Given the description of an element on the screen output the (x, y) to click on. 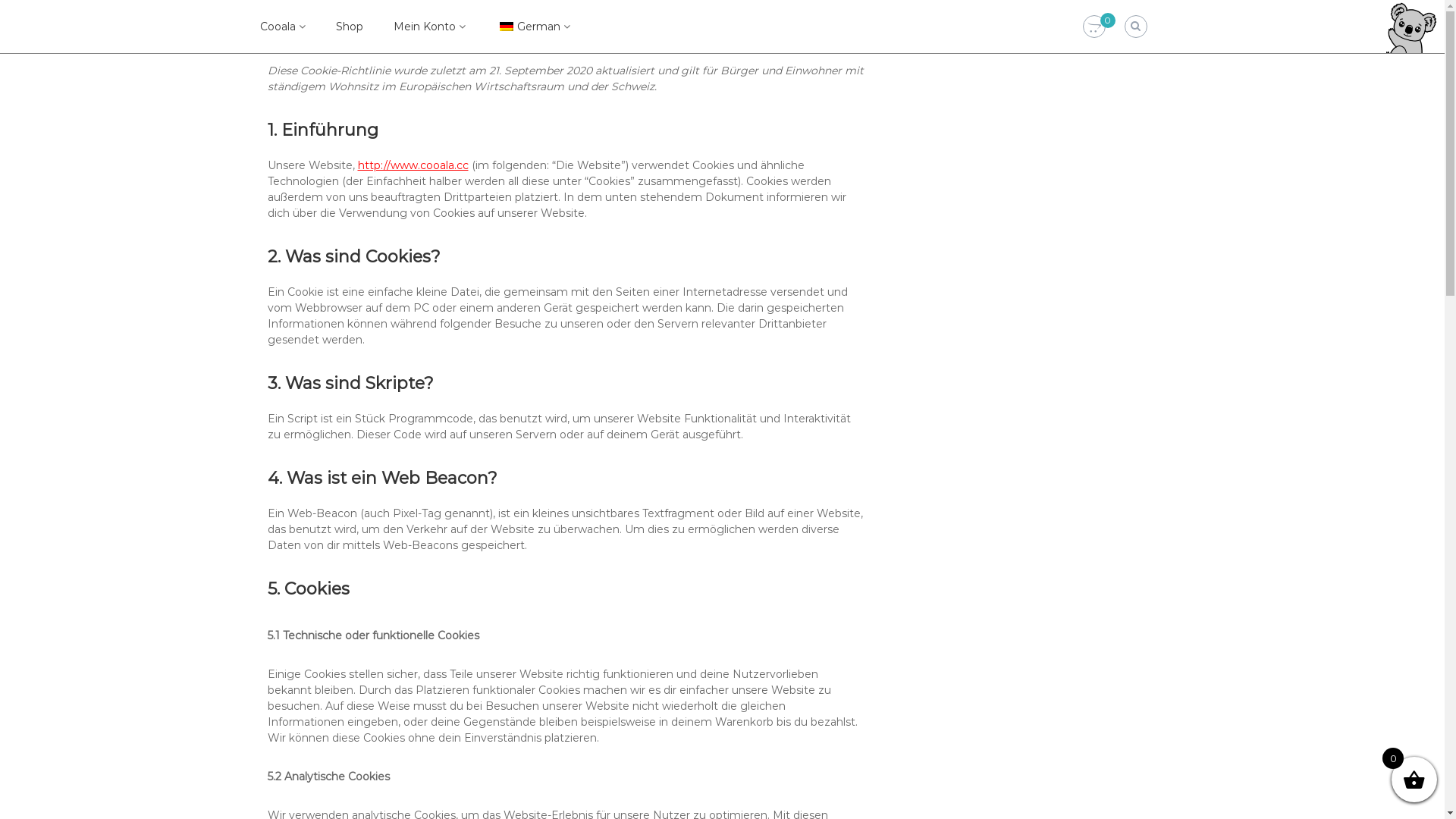
Mein Konto Element type: text (423, 26)
German Element type: hover (505, 25)
Shop Element type: text (348, 26)
http://www.cooala.cc Element type: text (412, 165)
Cooala Element type: text (276, 26)
German Element type: text (527, 26)
0 Element type: text (1094, 27)
Cooala Element type: text (273, 43)
